Given the description of an element on the screen output the (x, y) to click on. 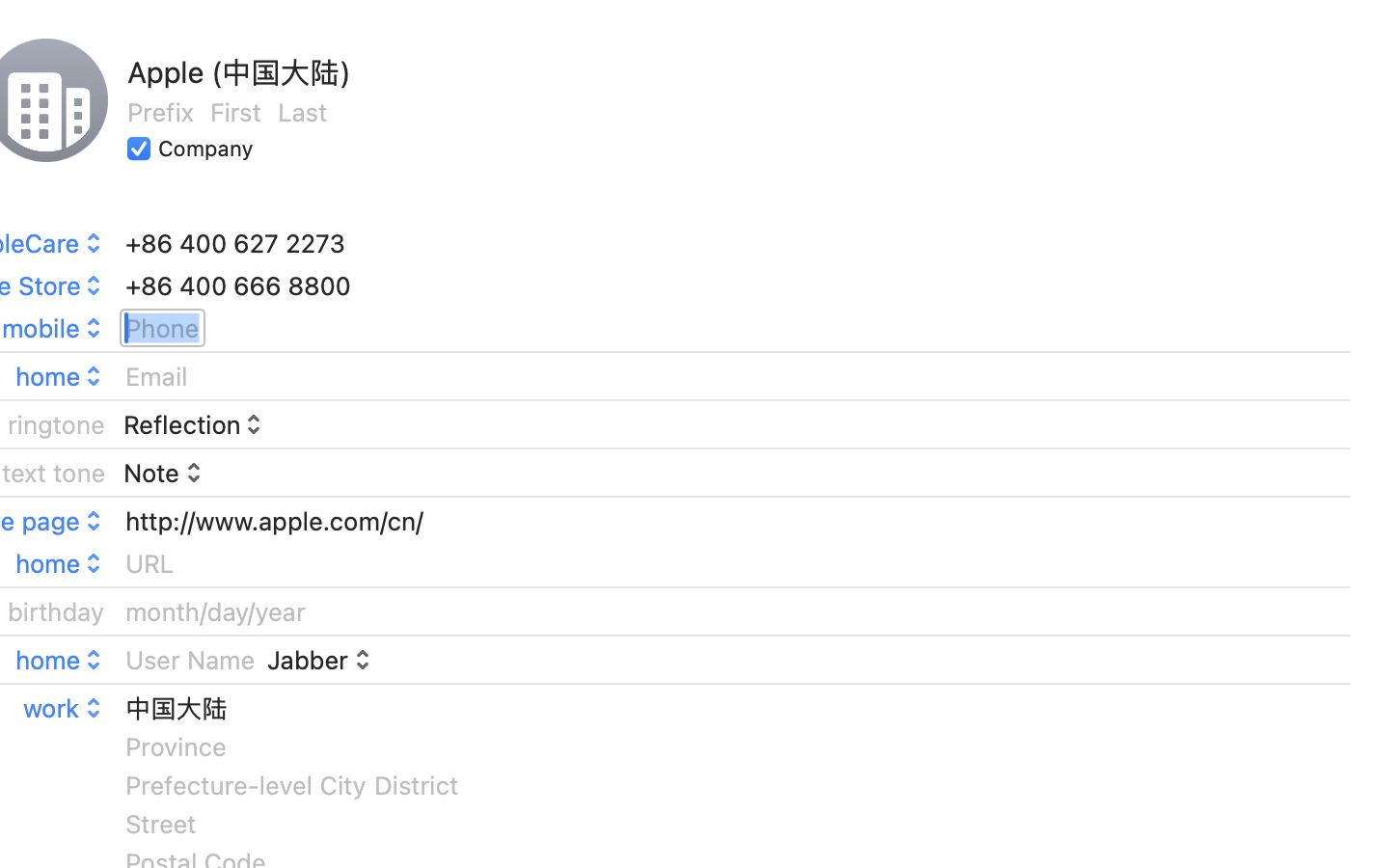
Note Element type: AXPopUpButton (164, 472)
中国大陆 Element type: AXTextField (176, 707)
work Element type: AXStaticText (64, 707)
‭+86 400 666 8800‬ Element type: AXTextField (237, 285)
‭+86 400 627 2273‬ Element type: AXTextField (235, 242)
